Given the description of an element on the screen output the (x, y) to click on. 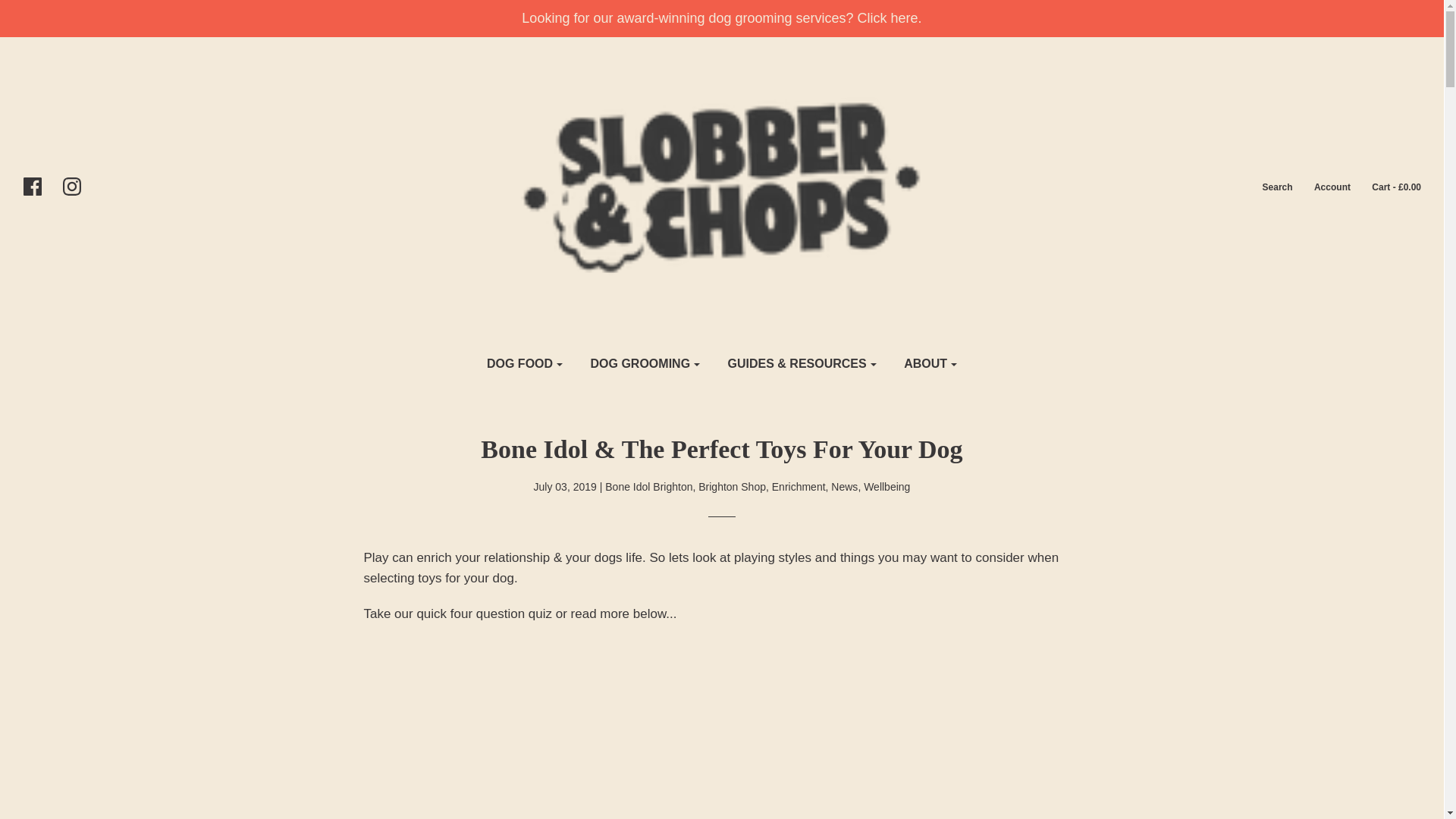
Account (1323, 186)
DOG FOOD (524, 363)
Facebook icon (32, 186)
Search (1267, 186)
Cart (1386, 186)
Facebook icon (39, 187)
Instagram icon (71, 186)
Instagram icon (79, 187)
Search (1267, 186)
